Given the description of an element on the screen output the (x, y) to click on. 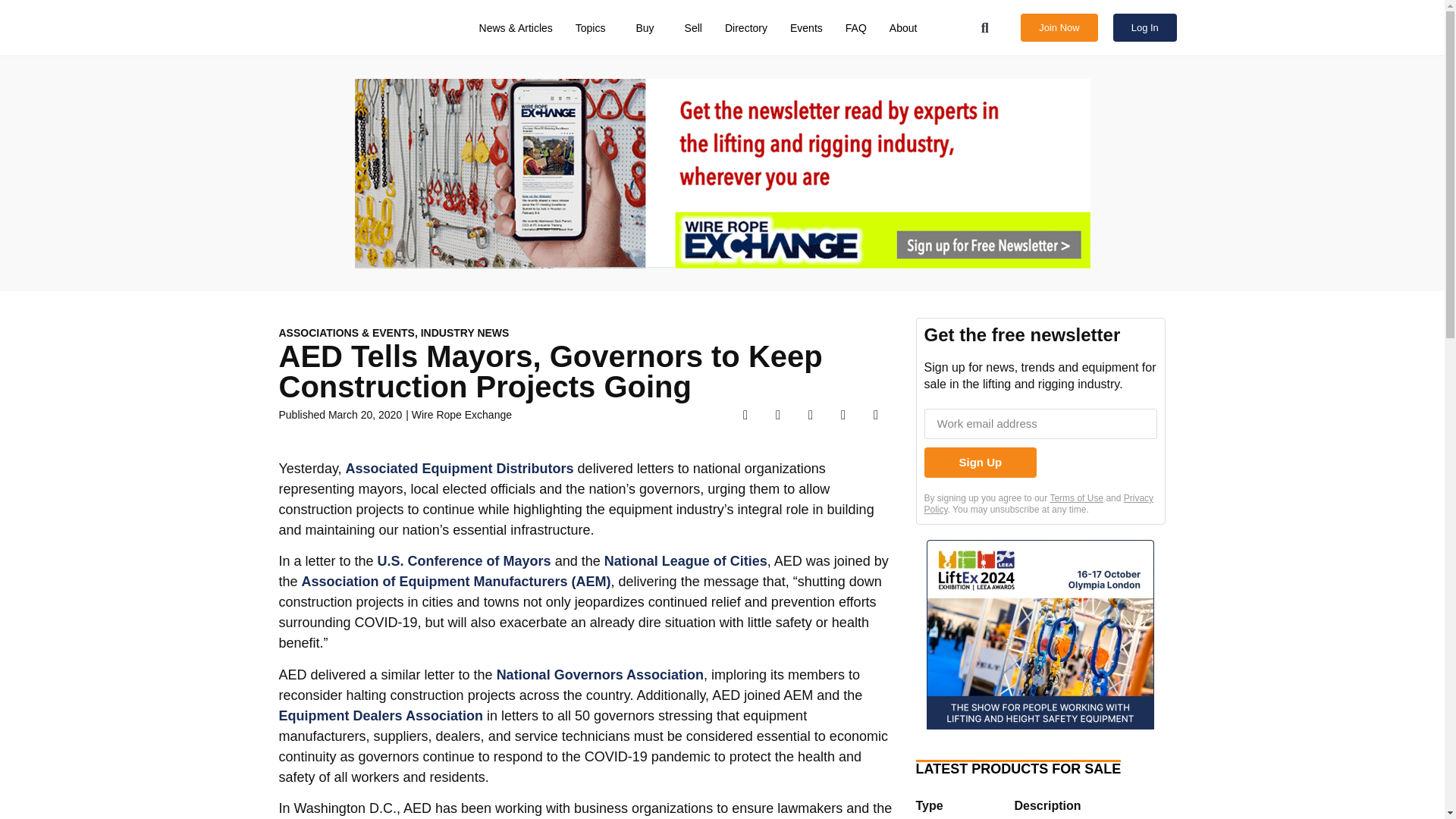
Topics (594, 27)
logo (342, 27)
Buy (648, 27)
LiftEx 2024 300x250 (1040, 636)
